Given the description of an element on the screen output the (x, y) to click on. 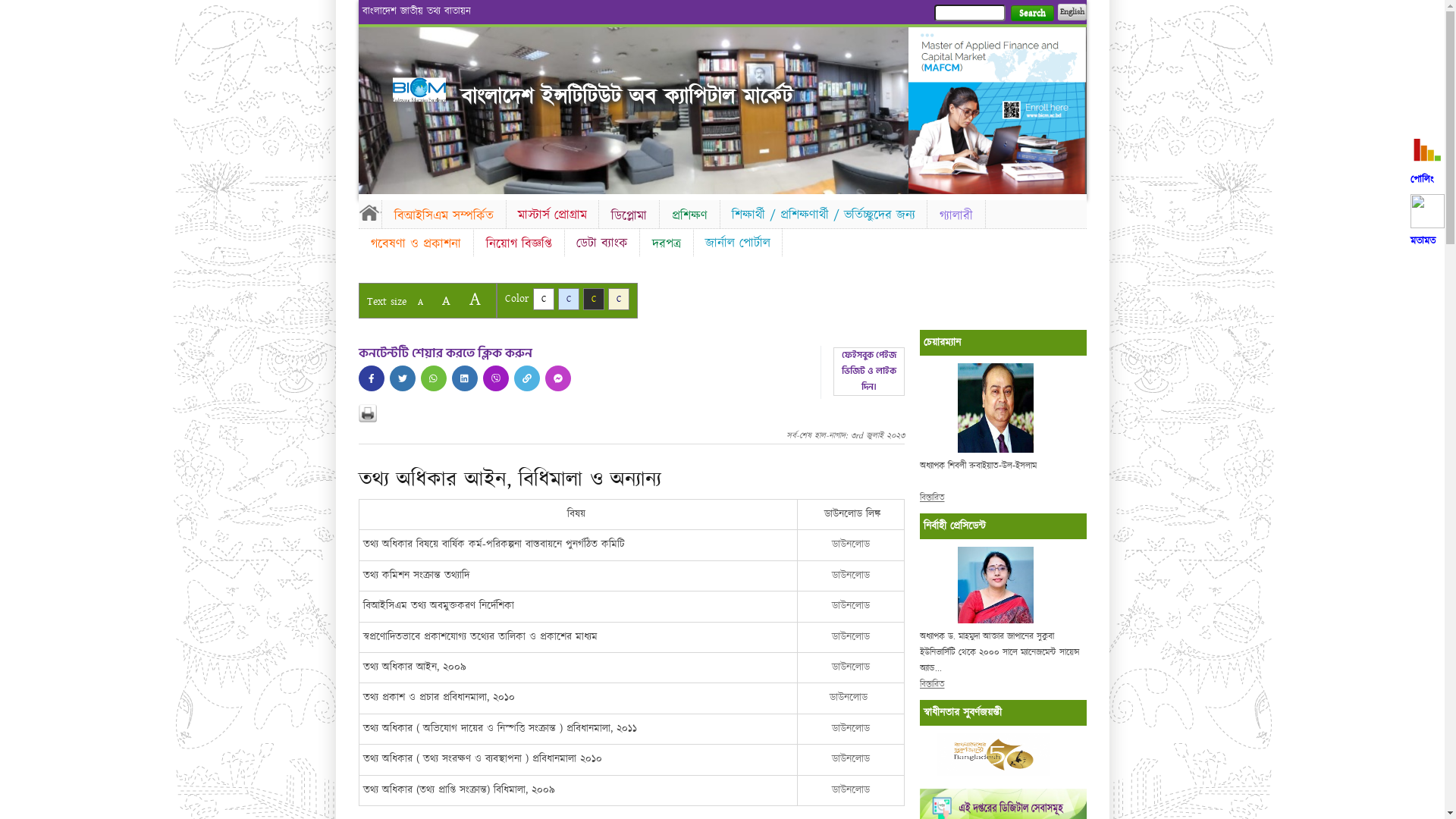
Home Element type: hover (368, 211)
Search Element type: text (1031, 13)
English Element type: text (1071, 11)
A Element type: text (445, 300)
C Element type: text (568, 299)
C Element type: text (592, 299)
C Element type: text (618, 299)
C Element type: text (542, 299)
A Element type: text (419, 301)
A Element type: text (474, 298)
Home Element type: hover (418, 89)
